Given the description of an element on the screen output the (x, y) to click on. 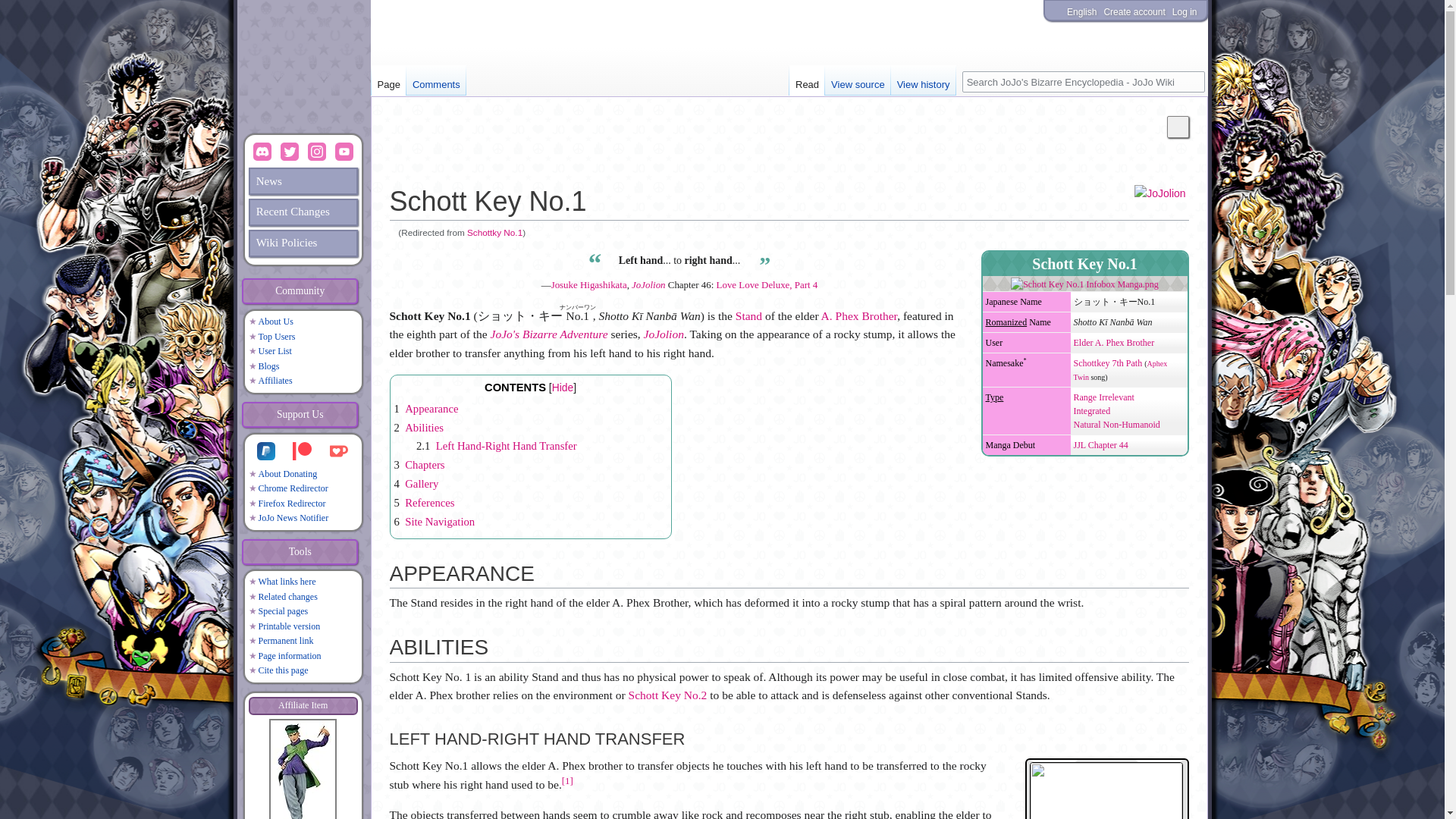
JJL Chapter 44 (1101, 444)
5 References (424, 502)
wikipedia:Aphex Twin (1120, 370)
Stand Types (1117, 424)
Go (1193, 81)
Aphex Twin (1120, 370)
Schottkey 7th Path (1108, 362)
Stand Types (994, 397)
Romanized (1006, 321)
Search (1193, 81)
